Given the description of an element on the screen output the (x, y) to click on. 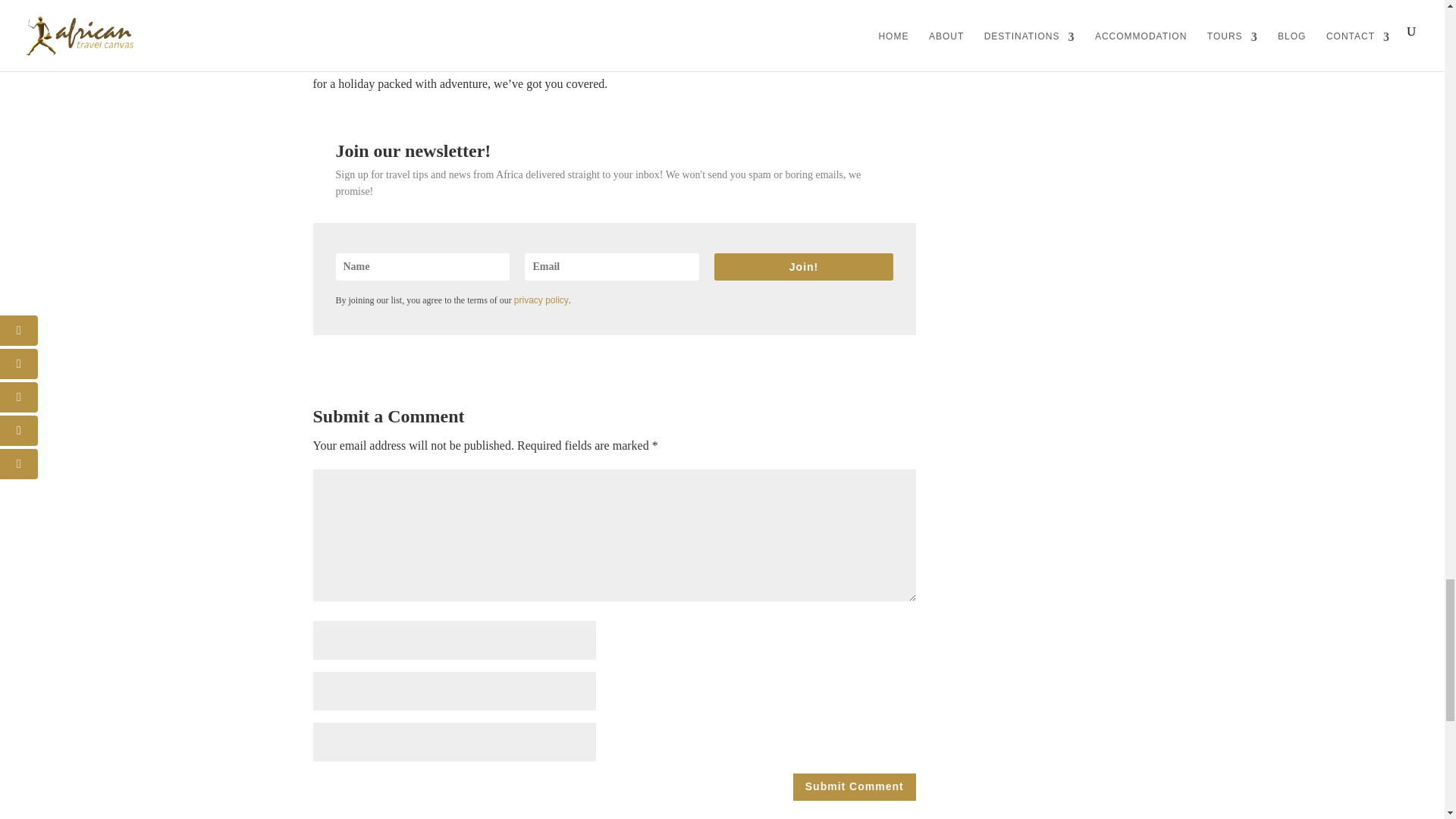
Submit Comment (854, 786)
